Given the description of an element on the screen output the (x, y) to click on. 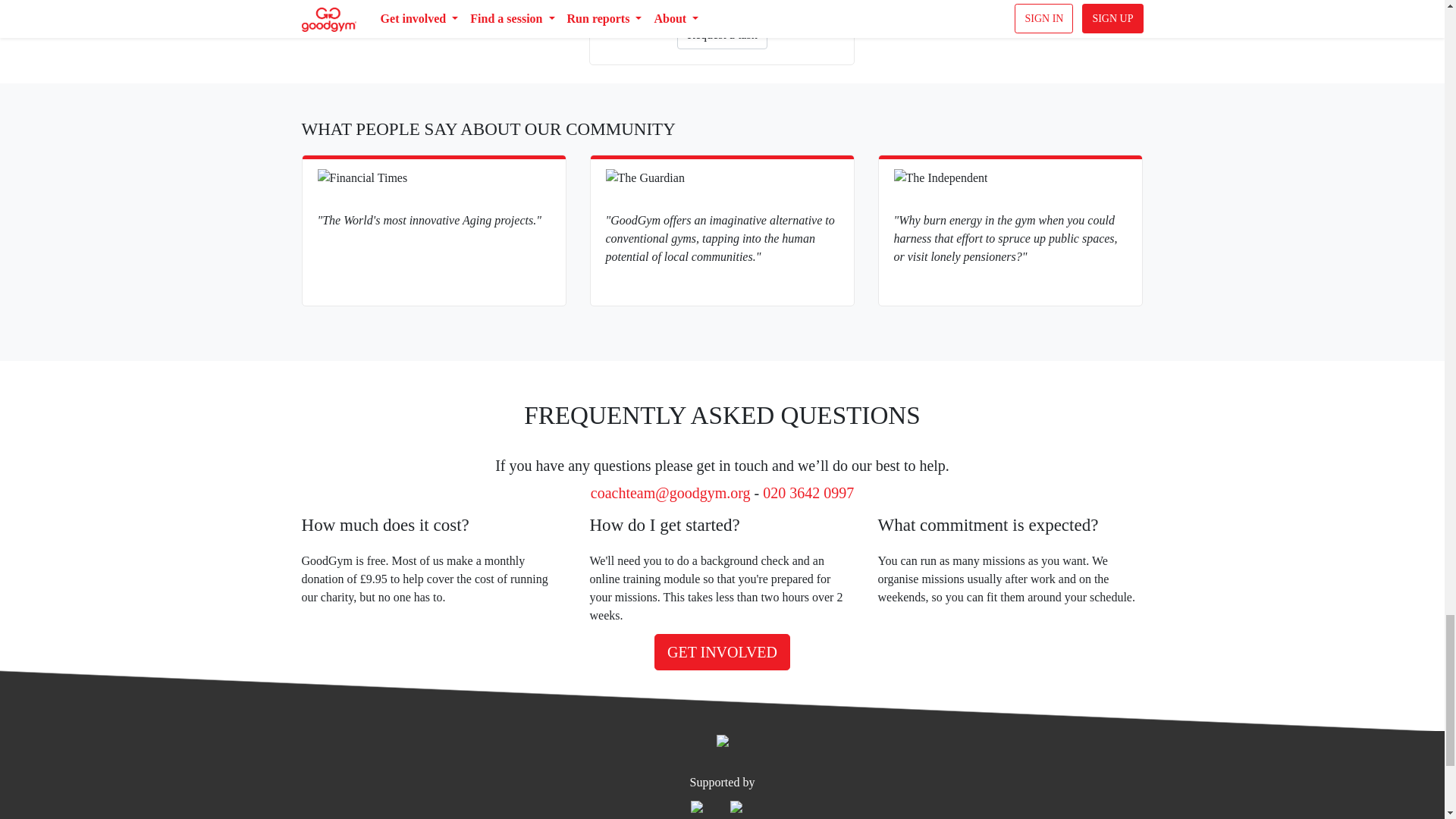
Request a task (722, 34)
